Given the description of an element on the screen output the (x, y) to click on. 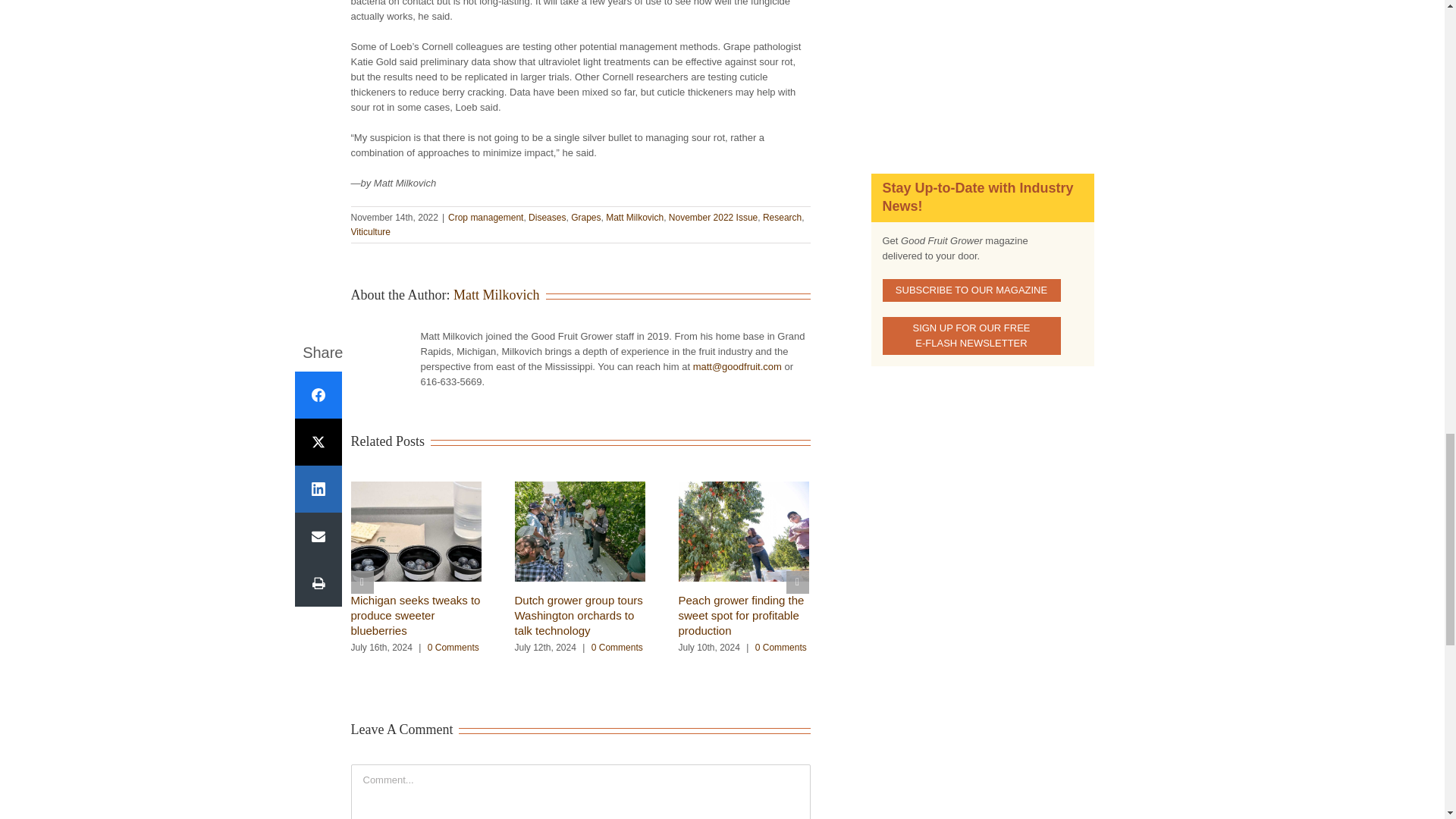
Posts by Matt Milkovich (496, 294)
Michigan seeks tweaks to produce sweeter blueberries (415, 615)
3rd party ad content (981, 69)
